Given the description of an element on the screen output the (x, y) to click on. 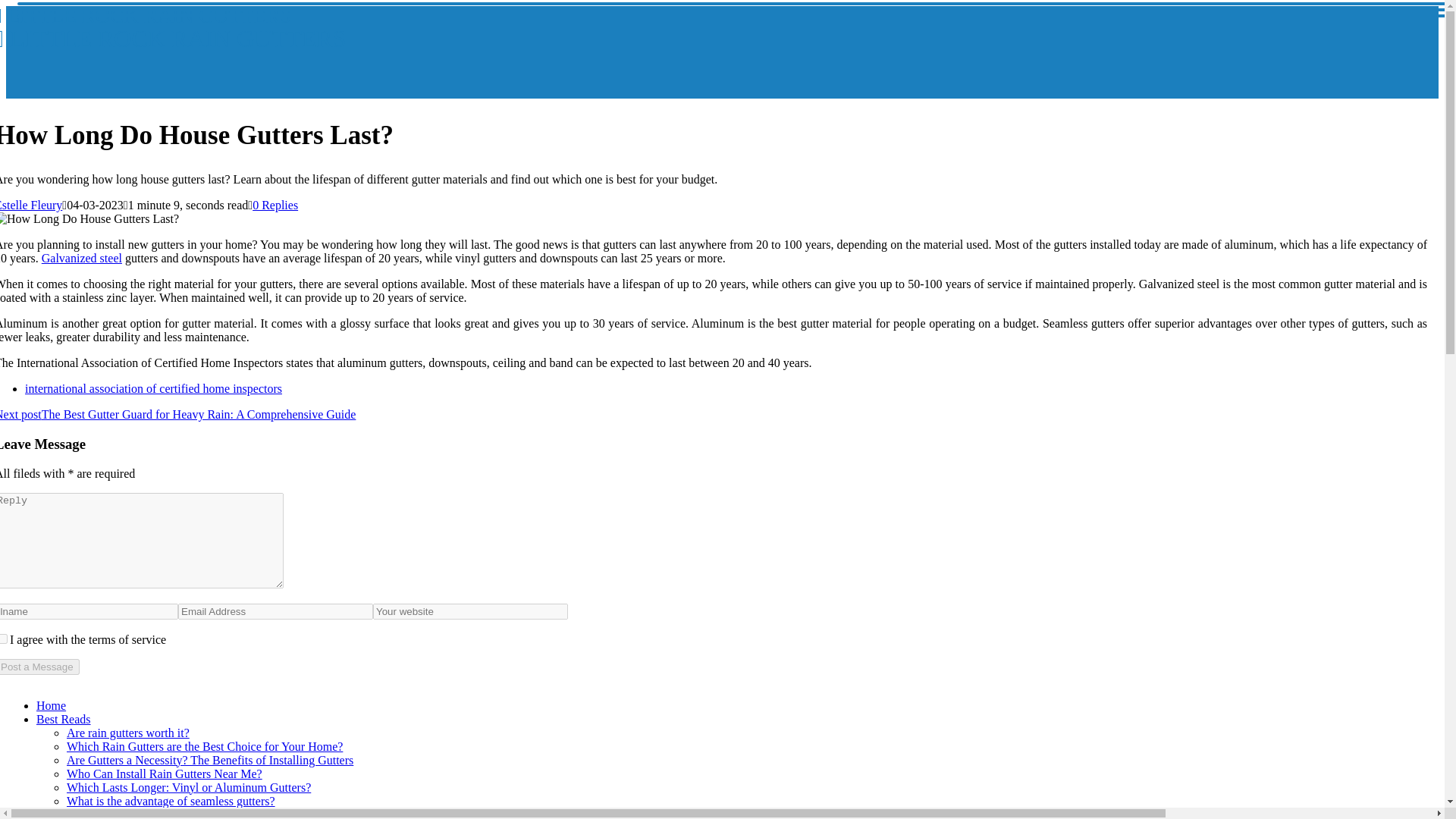
Galvanized steel (173, 27)
Best Reads (82, 257)
Which type of gutter material is best? (63, 718)
Are rain gutters worth it? (157, 813)
Who Can Install Rain Gutters Near Me? (127, 732)
Post a Message (164, 773)
Home (40, 666)
international association of certified home inspectors (50, 705)
Posts by Estelle Fleury (153, 388)
What is the advantage of seamless gutters? (31, 205)
Which Rain Gutters are the Best Choice for Your Home? (170, 800)
Post a Message (204, 746)
yes (40, 666)
